Given the description of an element on the screen output the (x, y) to click on. 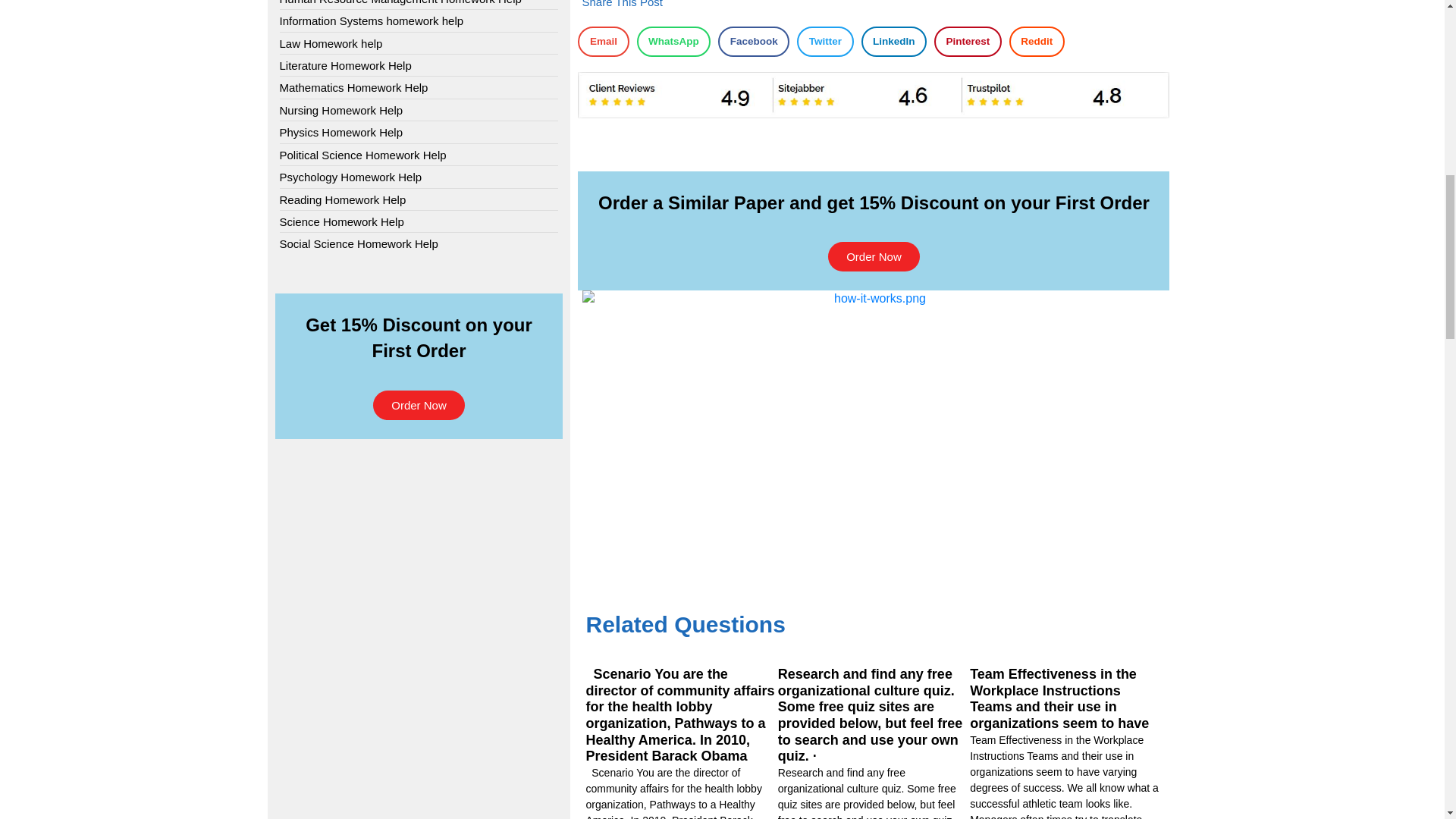
Law Homework help (330, 43)
Human Resource Management Homework Help (400, 3)
Information Systems homework help (371, 20)
